Given the description of an element on the screen output the (x, y) to click on. 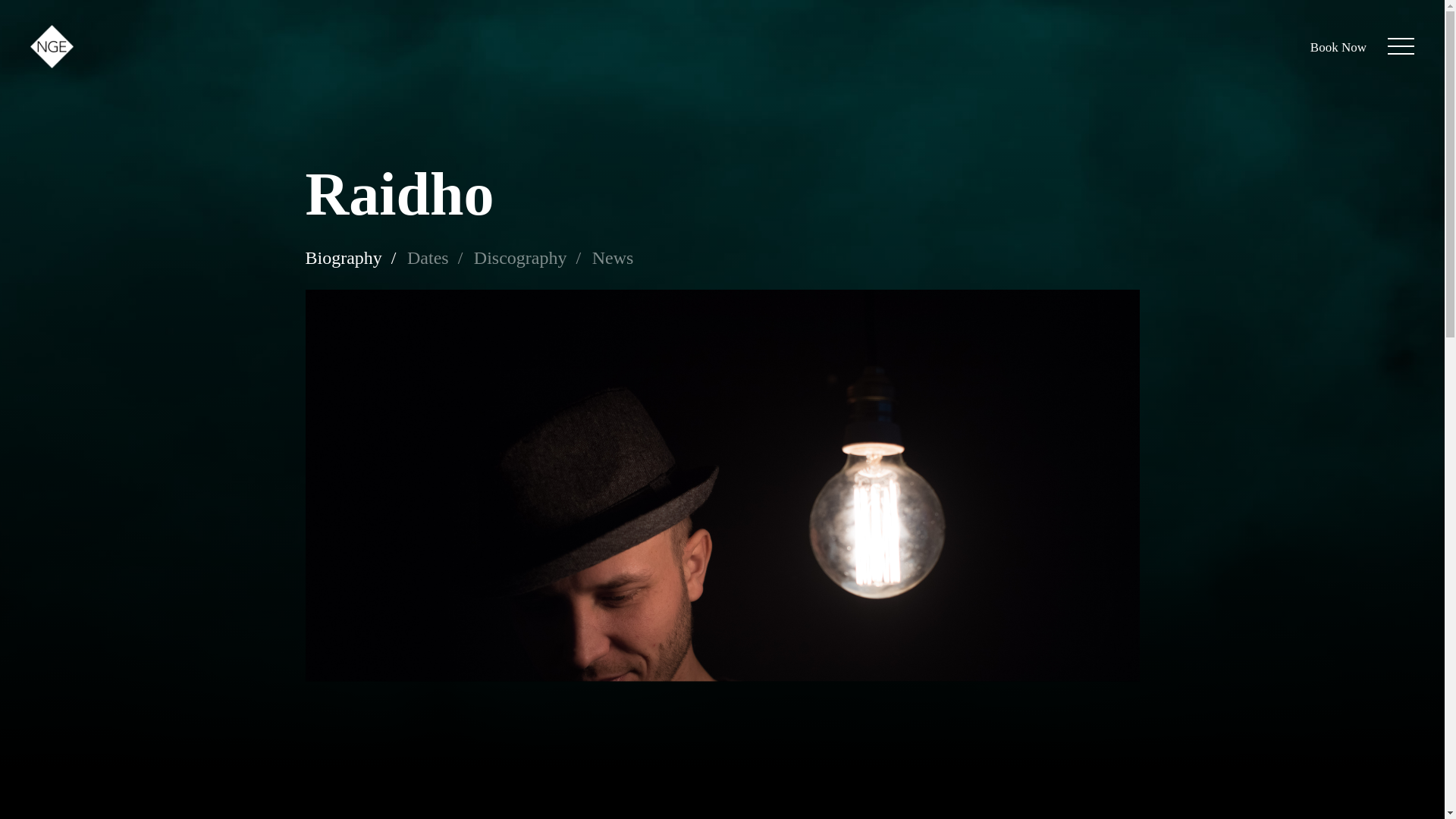
Discography (527, 257)
News (612, 257)
Biography (350, 257)
Book Now (1338, 47)
Dates (435, 257)
